Given the description of an element on the screen output the (x, y) to click on. 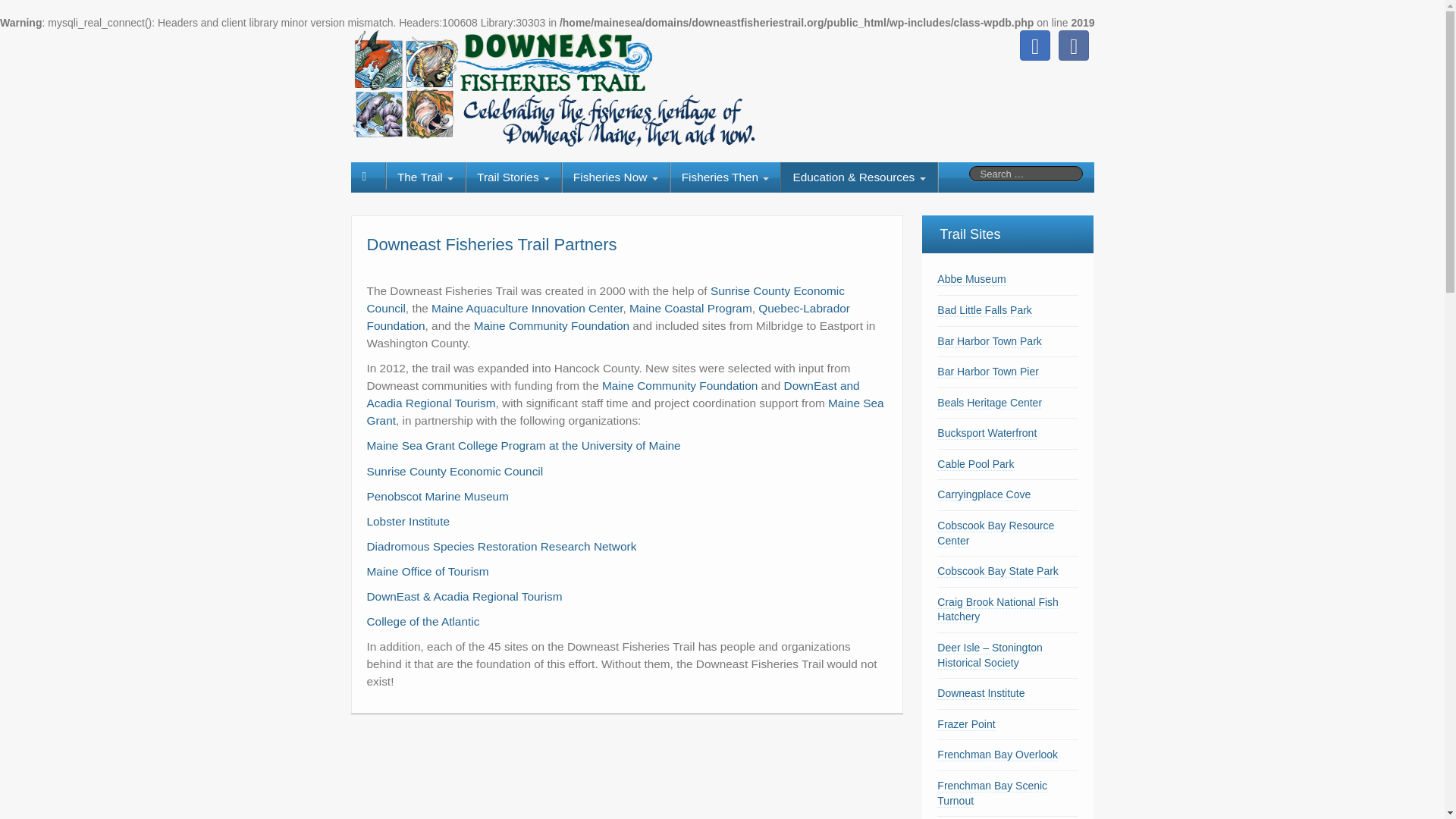
Resources (858, 177)
Downeast Fisheries Trail Facebook (1073, 45)
Downeast Fisheries Trail Email (1034, 45)
Downeast Fisheries Trail (563, 87)
Trail Stories (512, 177)
Sunrise County Economic Council (605, 299)
The Trail (424, 177)
Fisheries Now (615, 177)
Fisheries Then (724, 177)
Maine Aquaculture Innovation Center (526, 308)
